Given the description of an element on the screen output the (x, y) to click on. 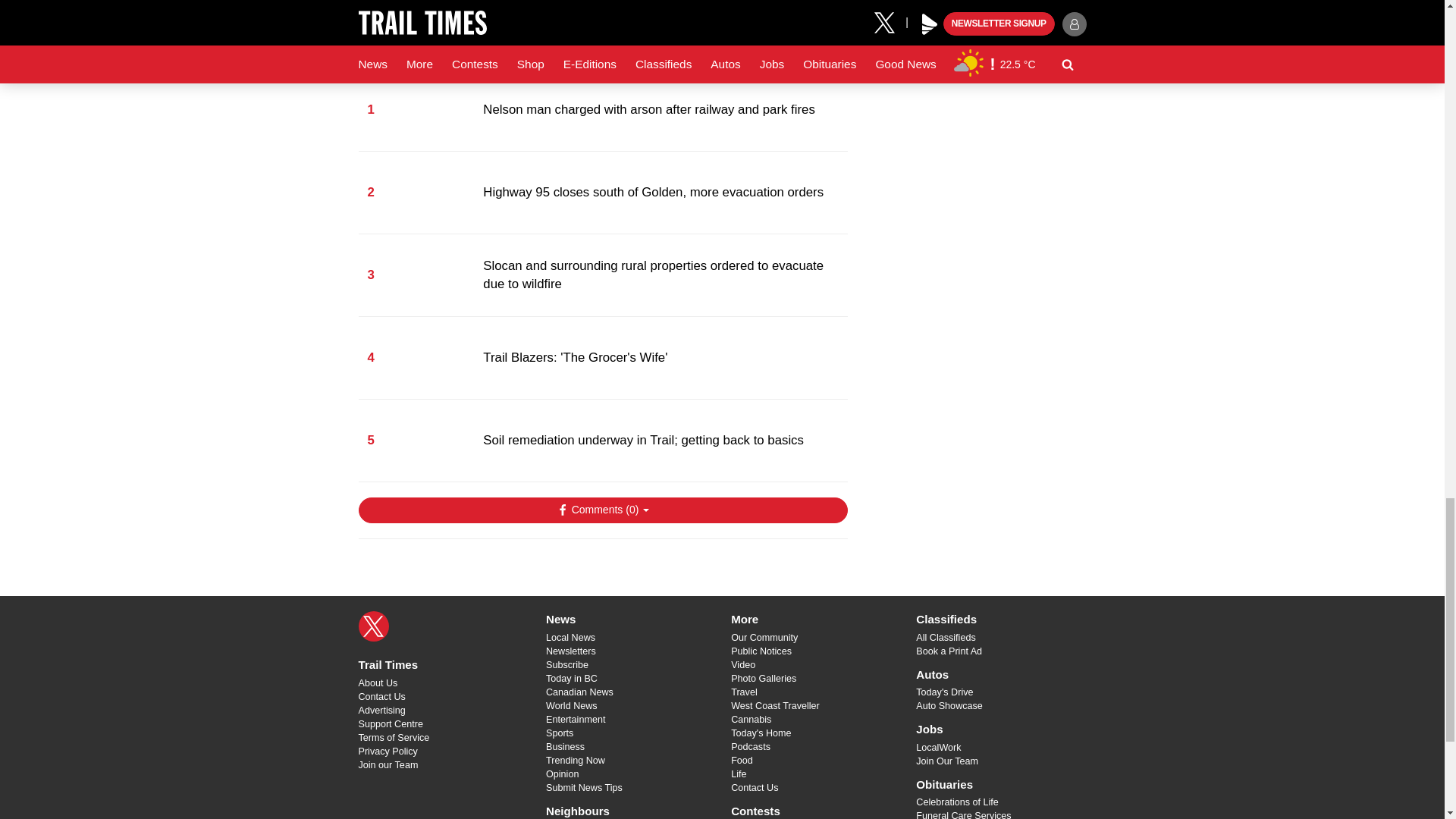
X (373, 625)
Show Comments (602, 510)
